Given the description of an element on the screen output the (x, y) to click on. 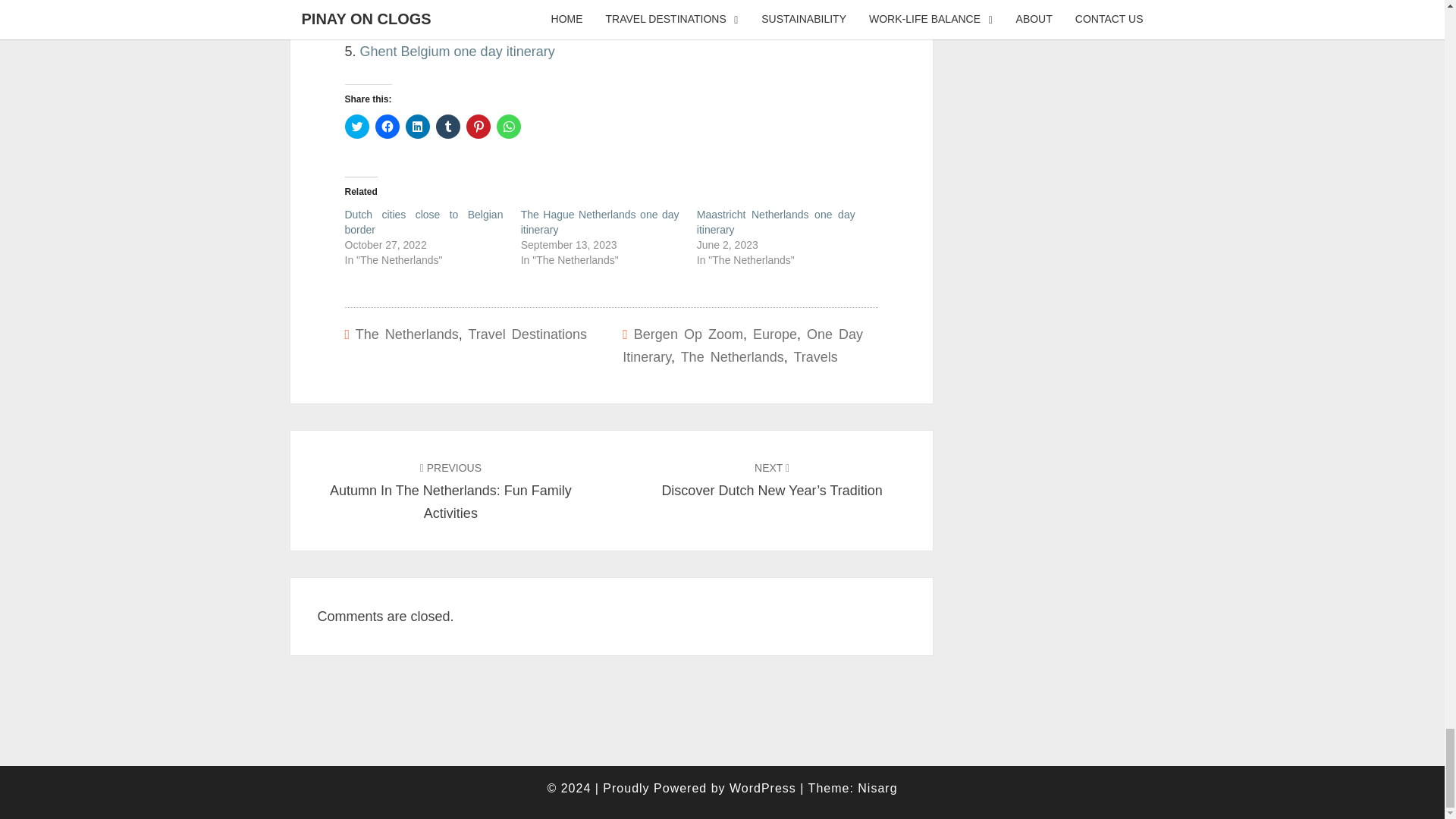
Bergen Op Zoom (687, 334)
Dutch cities close to Belgian border (422, 221)
Click to share on LinkedIn (416, 126)
Click to share on Tumblr (447, 126)
Maastricht Netherlands one day itinerary (776, 221)
Click to share on Twitter (355, 126)
One Day Itinerary (743, 345)
Travel Destinations (527, 334)
The Hague Netherlands one day itinerary (600, 221)
Maastricht Netherlands one day itinerary (776, 221)
Europe (774, 334)
Click to share on WhatsApp (507, 126)
Click to share on Pinterest (477, 126)
Ghent Belgium one day itinerary (456, 51)
Click to share on Facebook (386, 126)
